Given the description of an element on the screen output the (x, y) to click on. 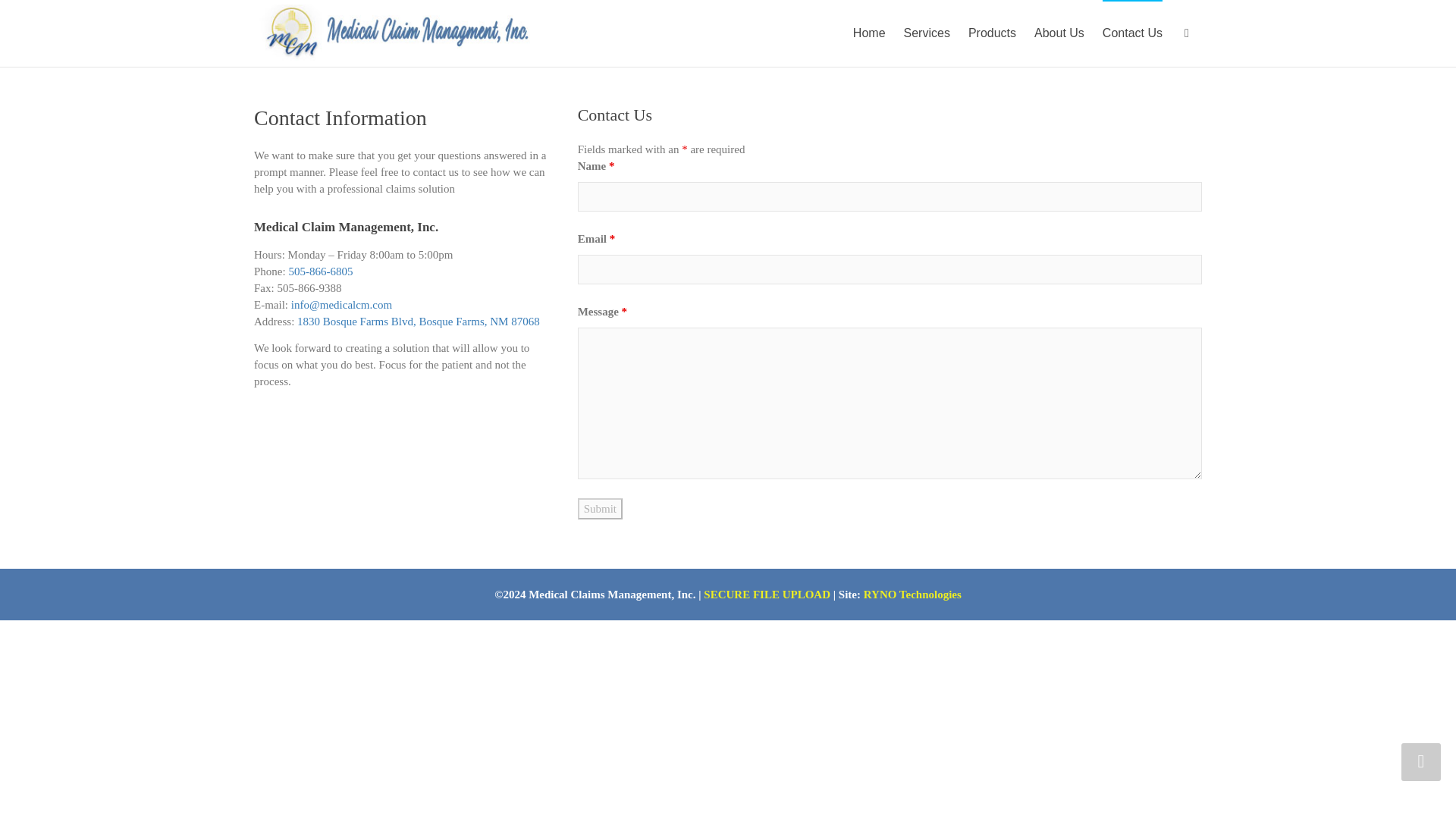
About Us (1058, 33)
Submit (600, 508)
About Us (1058, 33)
Services (927, 33)
Contact Us (1131, 33)
Products (992, 33)
Products (992, 33)
Home (869, 33)
Contact Us (1131, 33)
Home (869, 33)
Medical Claim Management, Inc. (394, 32)
Services (927, 33)
1830 Bosque Farms Blvd, Bosque Farms, NM 87068 (418, 321)
RYNO Technologies (911, 594)
505-866-6805 (320, 271)
